Given the description of an element on the screen output the (x, y) to click on. 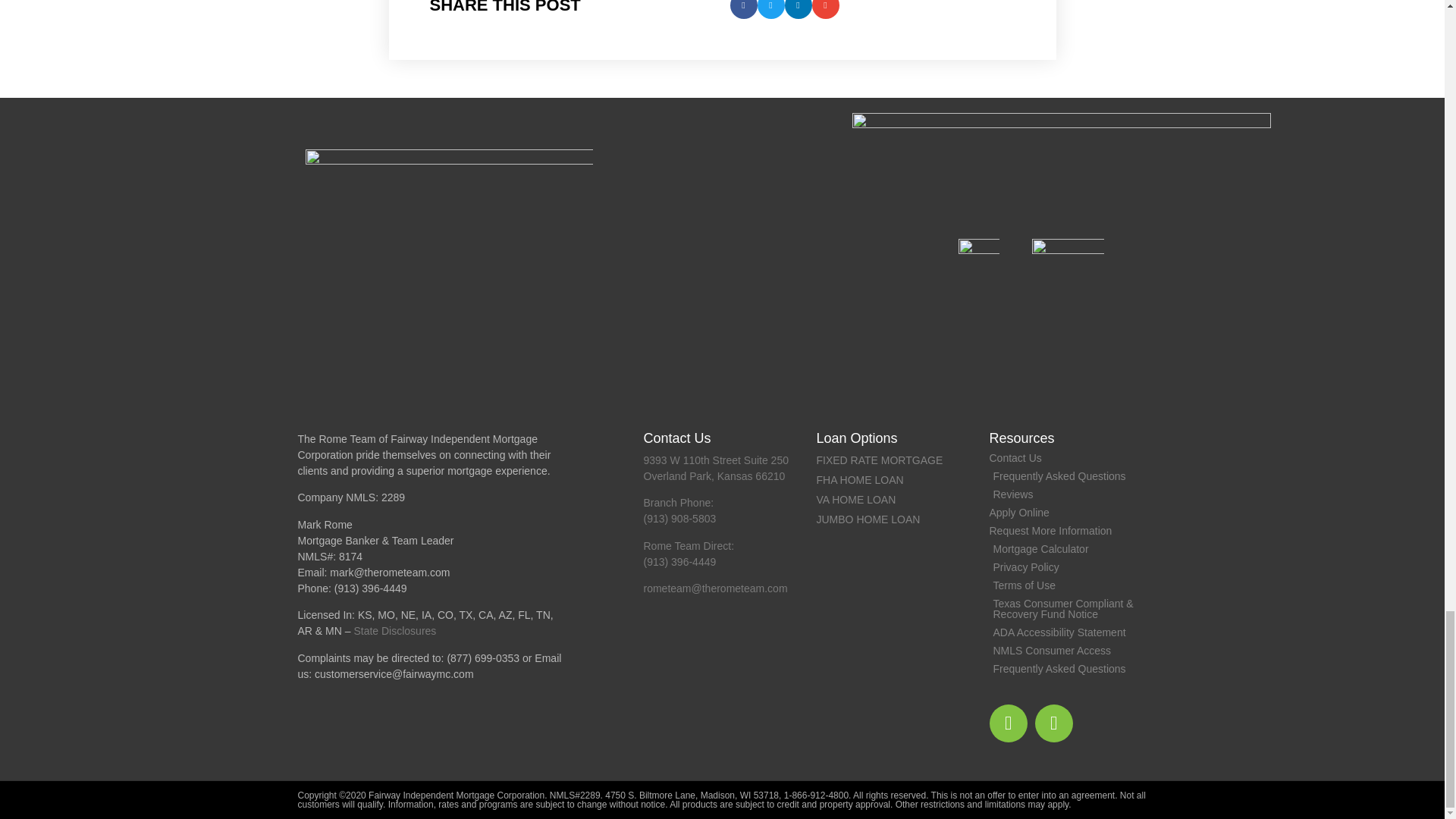
ShoreTel Web Dialer: 18776990353 (482, 657)
ShoreTel Web Dialer: 19133964449 (370, 588)
